Given the description of an element on the screen output the (x, y) to click on. 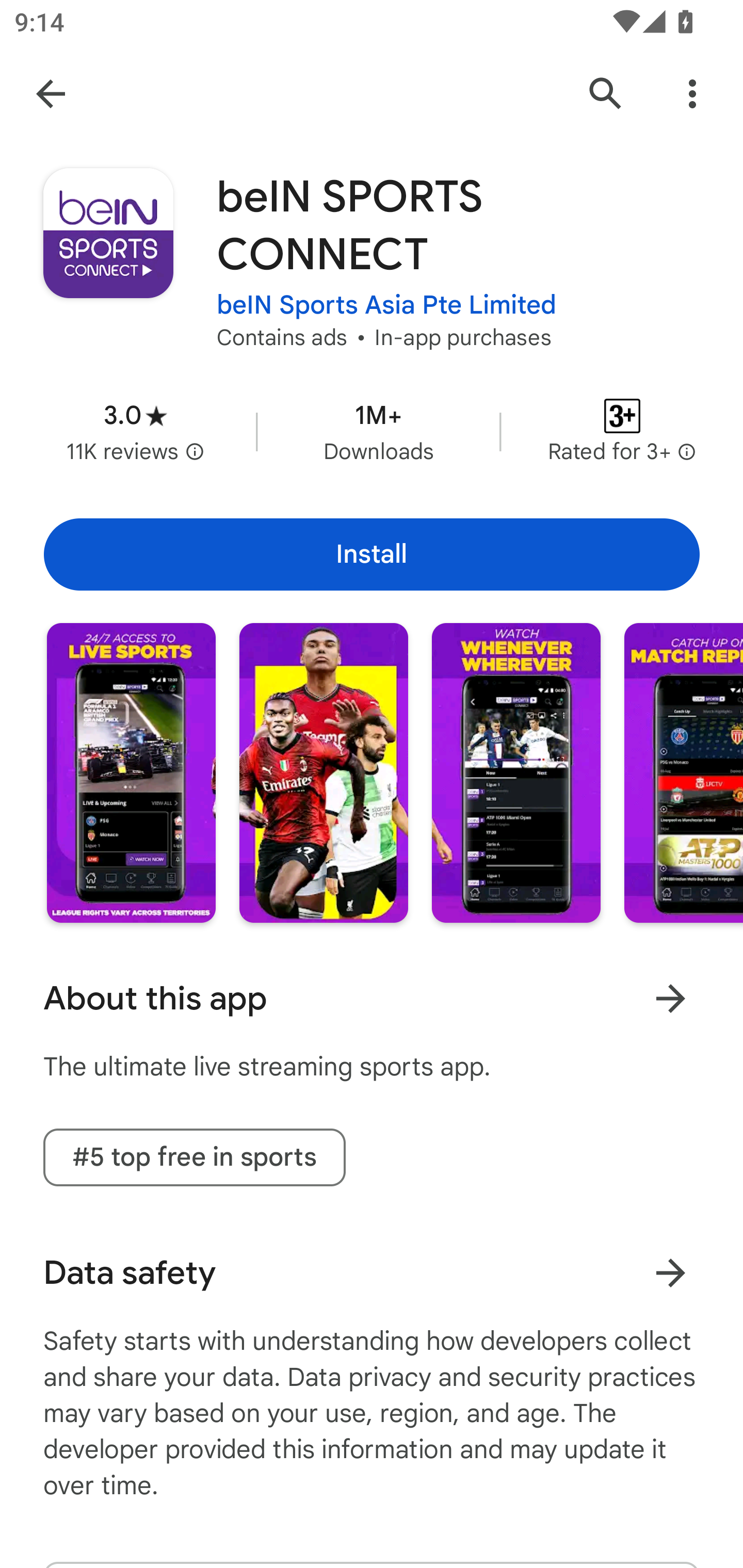
Navigate up (50, 93)
Search Google Play (605, 93)
More Options (692, 93)
beIN Sports Asia Pte Limited (386, 304)
Average rating 3.0 stars in 11 thousand reviews (135, 431)
Content rating Rated for 3+ (622, 431)
Install (371, 554)
Screenshot "1" of "6" (130, 771)
Screenshot "2" of "6" (323, 771)
Screenshot "3" of "6" (515, 771)
Screenshot "4" of "6" (683, 771)
About this app Learn more About this app (371, 998)
Learn more About this app (670, 997)
#5 top free in sports tag (194, 1157)
Data safety Learn more about data safety (371, 1273)
Learn more about data safety (670, 1272)
